Given the description of an element on the screen output the (x, y) to click on. 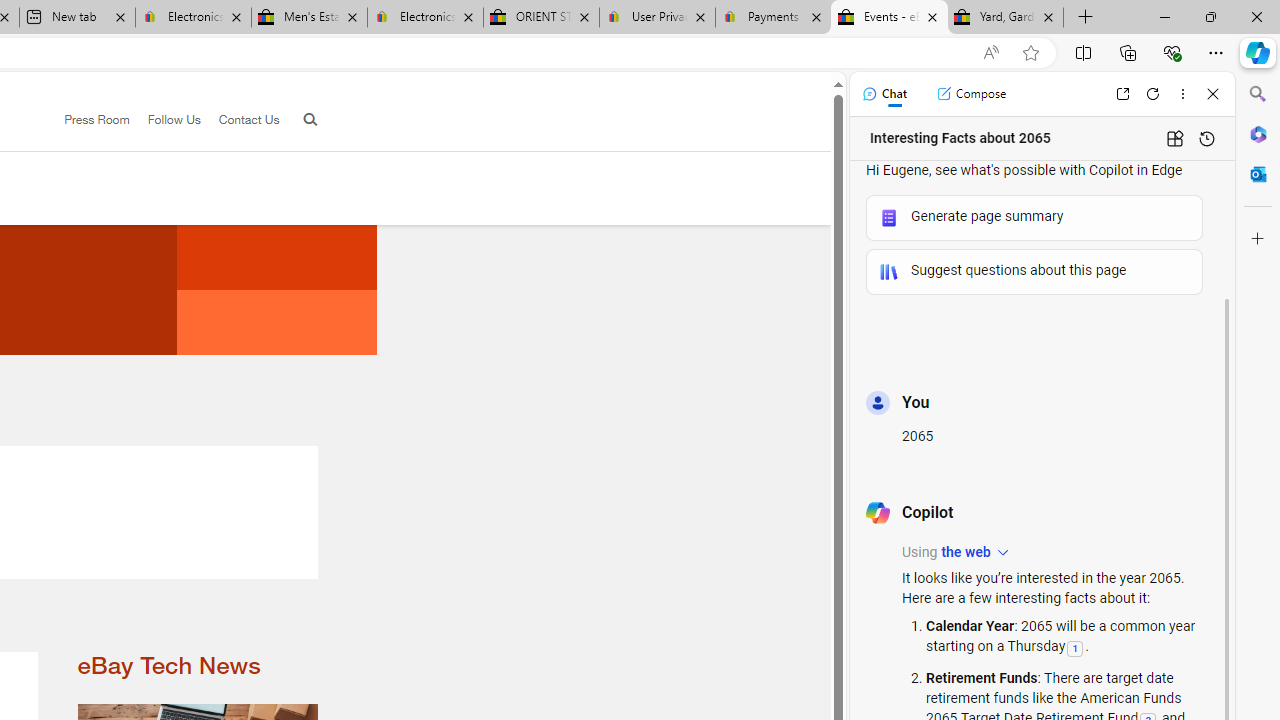
Payments Terms of Use | eBay.com (772, 17)
Follow Us (164, 120)
Compose (971, 93)
Chat (884, 93)
Events - eBay Inc. (889, 17)
Press Room (88, 120)
